Given the description of an element on the screen output the (x, y) to click on. 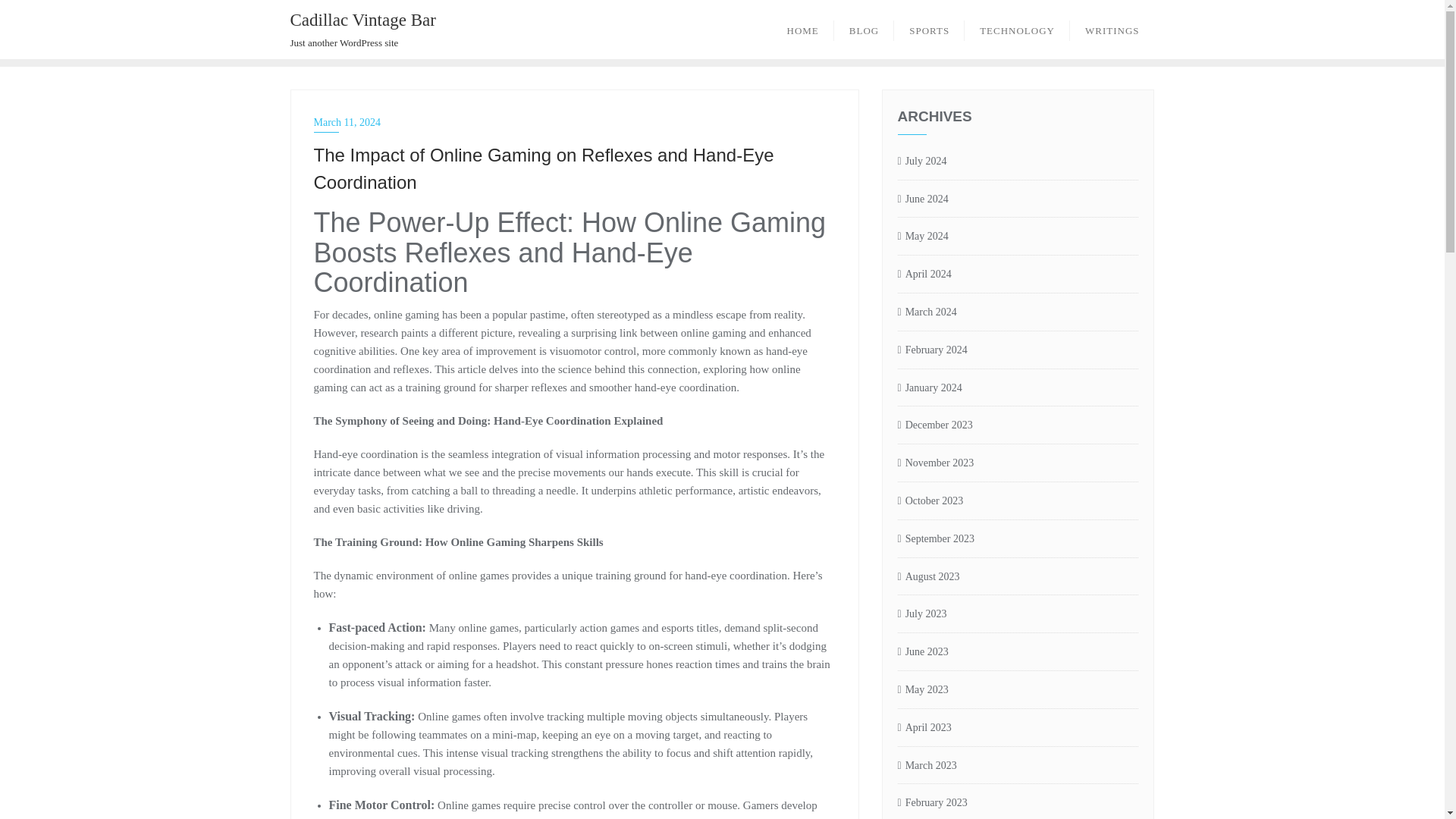
October 2023 (930, 501)
June 2024 (923, 199)
June 2023 (923, 652)
May 2023 (923, 689)
July 2023 (922, 614)
May 2024 (923, 236)
February 2024 (933, 350)
March 2024 (927, 312)
April 2024 (925, 274)
HOME (802, 29)
TECHNOLOGY (1016, 29)
BLOG (863, 29)
January 2024 (930, 388)
December 2023 (935, 425)
